Given the description of an element on the screen output the (x, y) to click on. 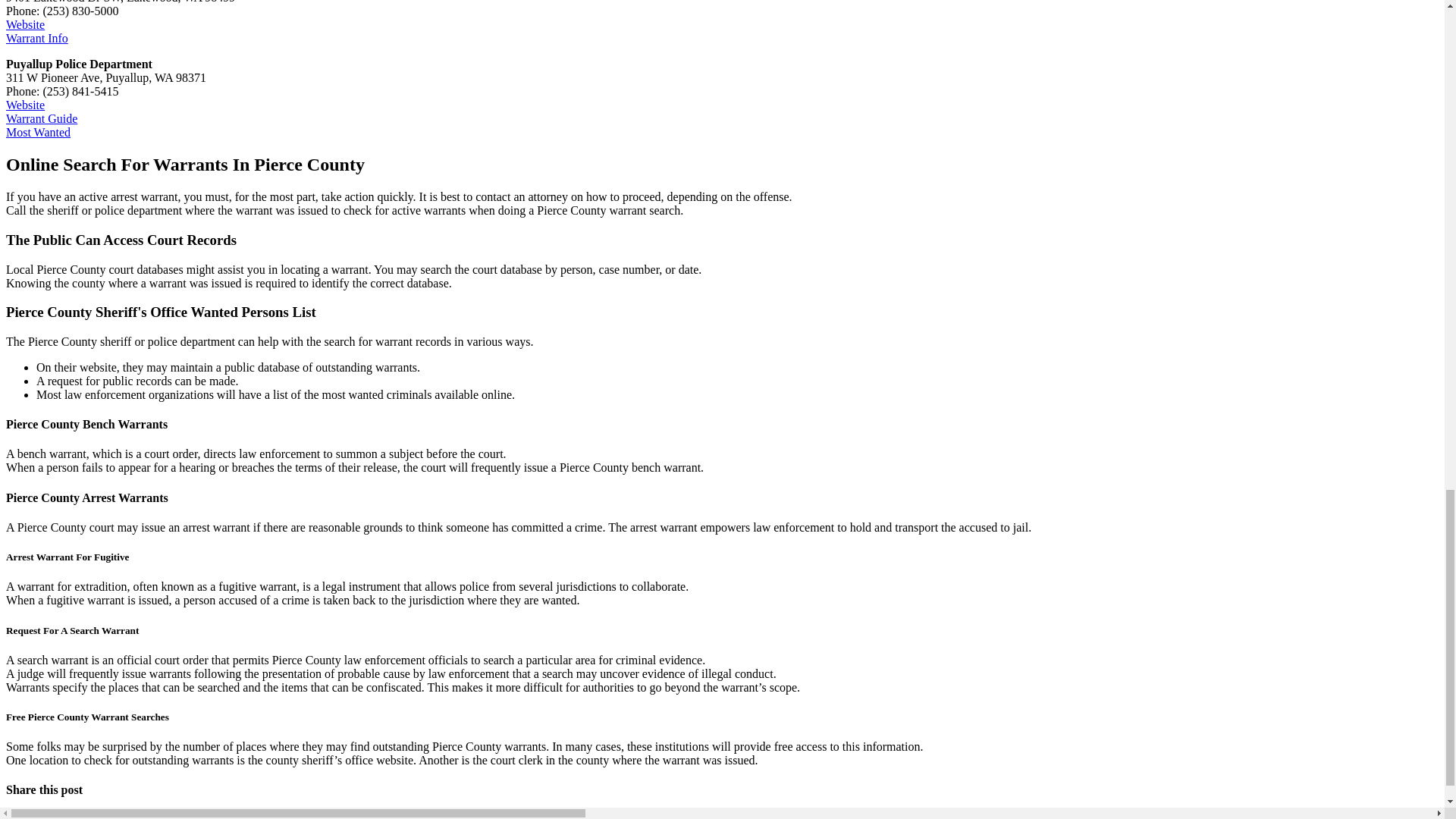
Website (25, 104)
Website (25, 24)
Warrant Guide (41, 118)
Warrant Info (36, 38)
